Given the description of an element on the screen output the (x, y) to click on. 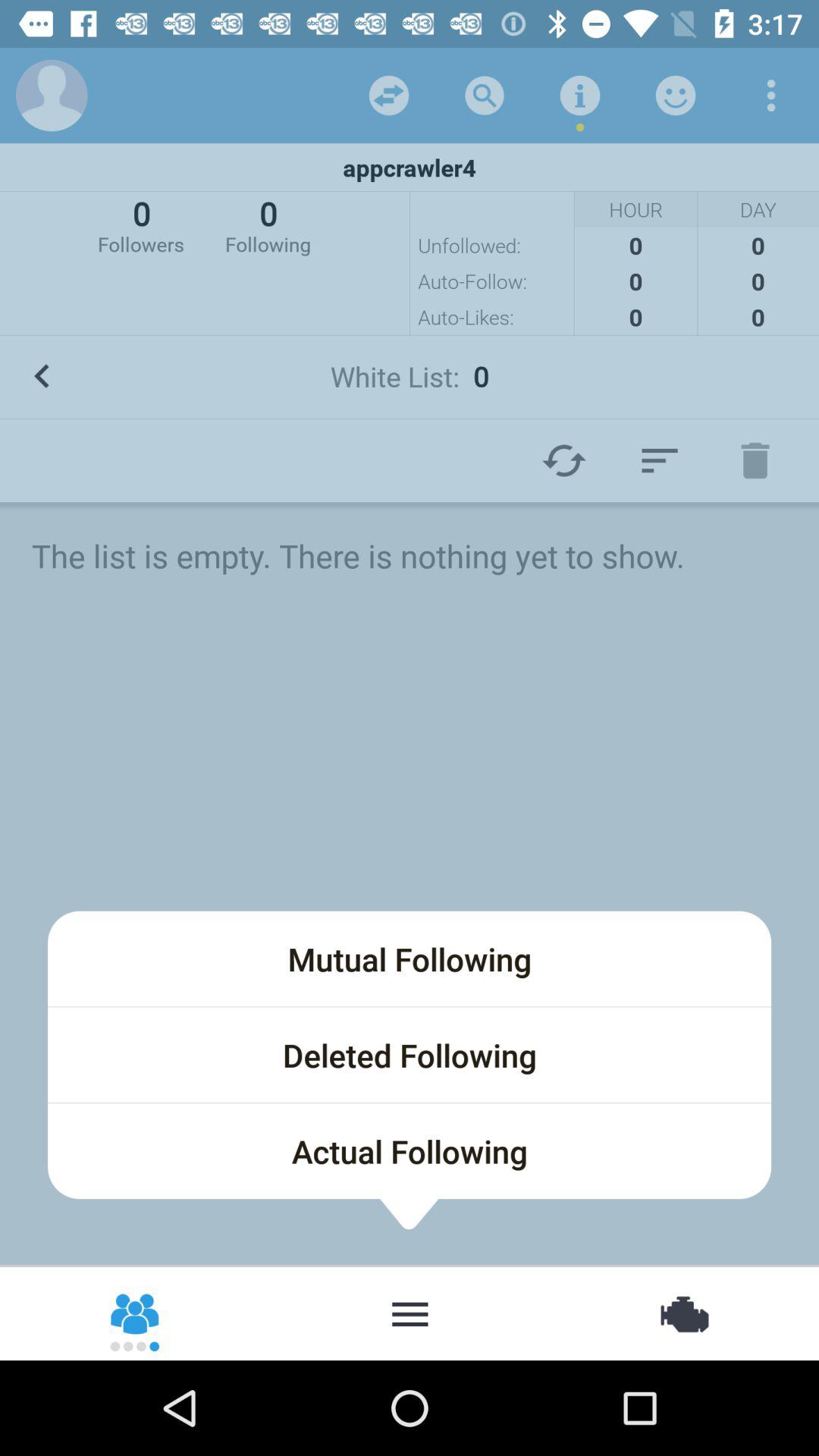
choose item above the appcrawler4 icon (771, 95)
